Given the description of an element on the screen output the (x, y) to click on. 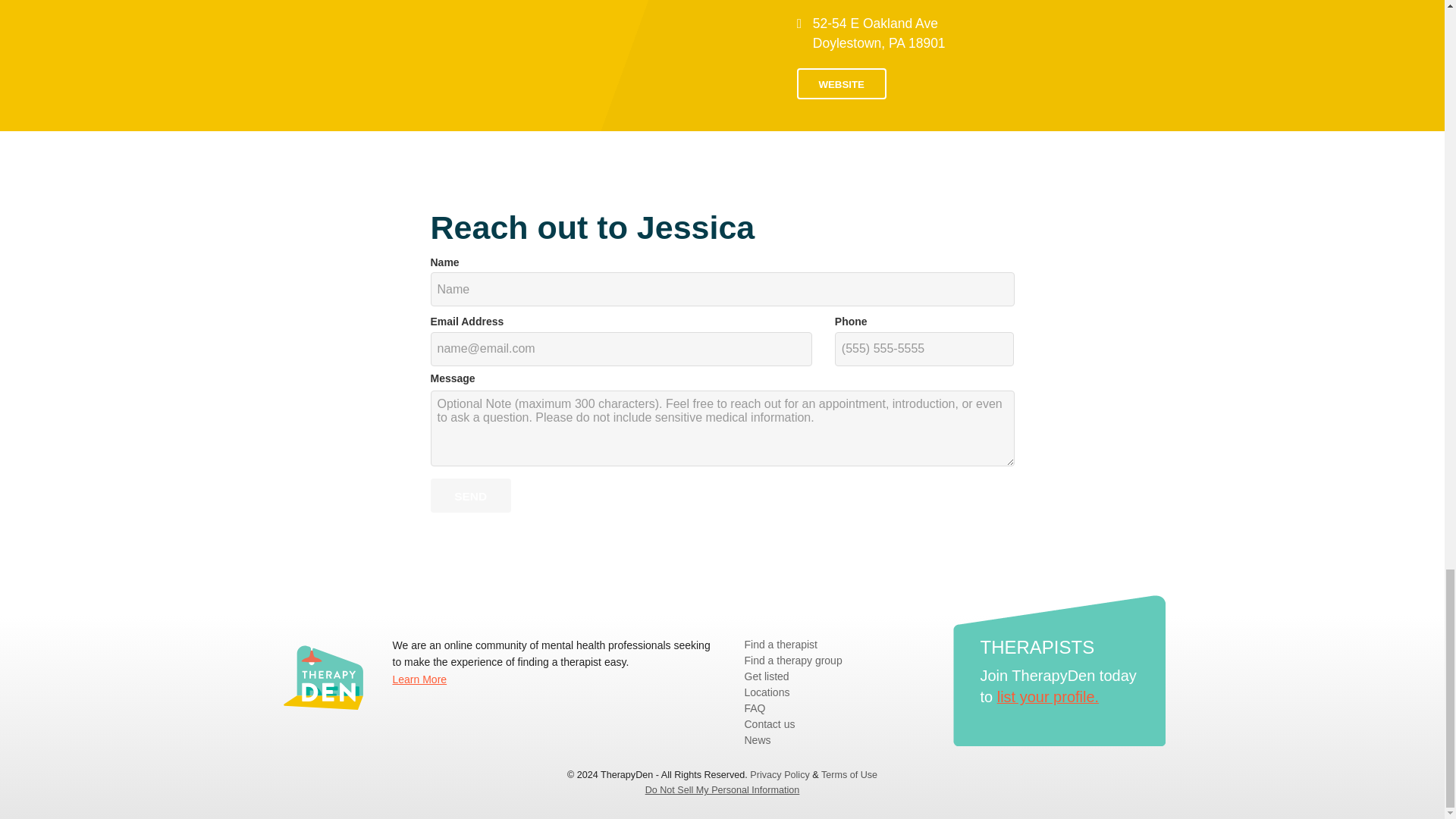
Send (470, 495)
